Given the description of an element on the screen output the (x, y) to click on. 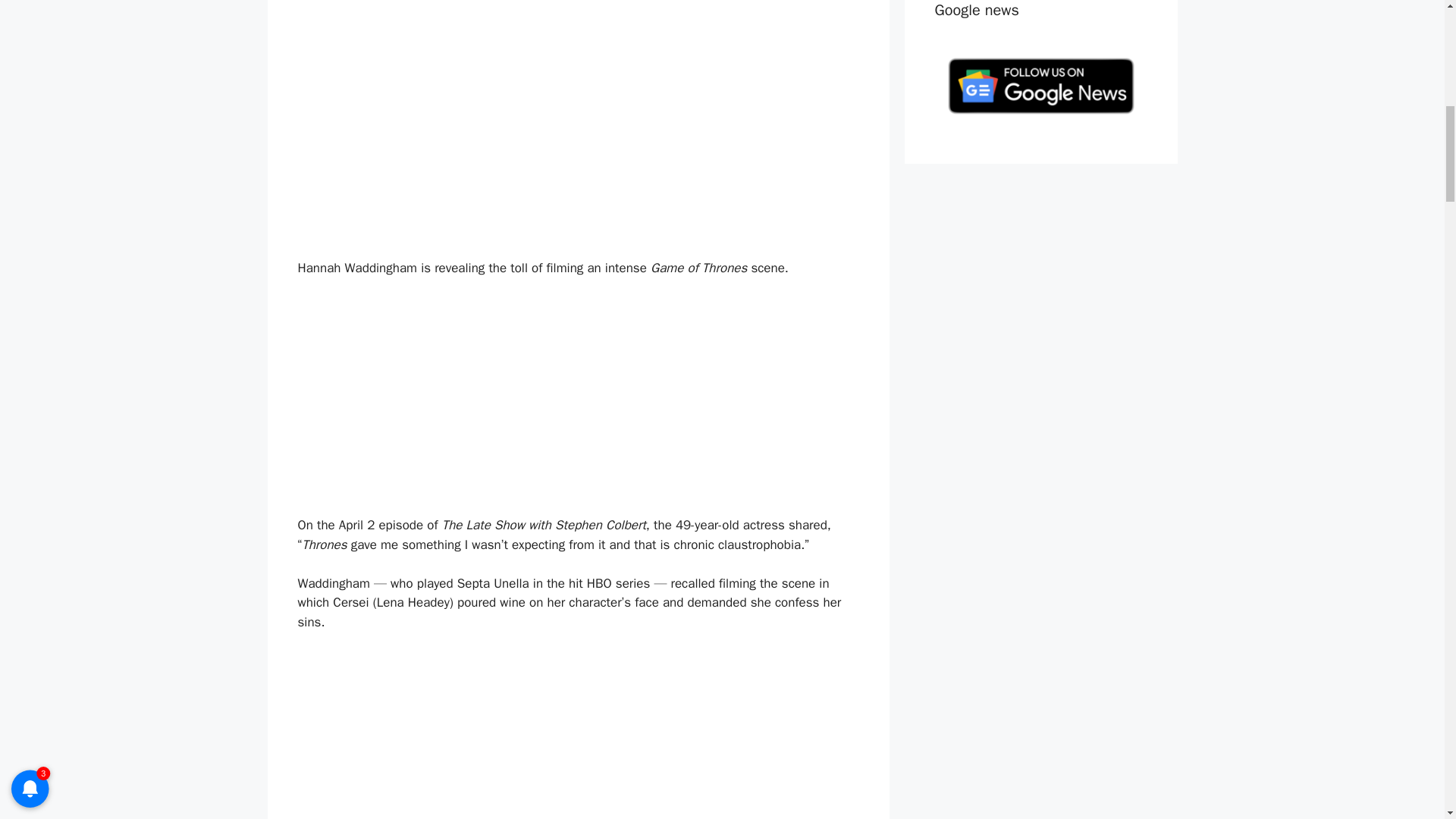
Advertisement (578, 56)
Advertisement (578, 403)
Advertisement (578, 734)
